Given the description of an element on the screen output the (x, y) to click on. 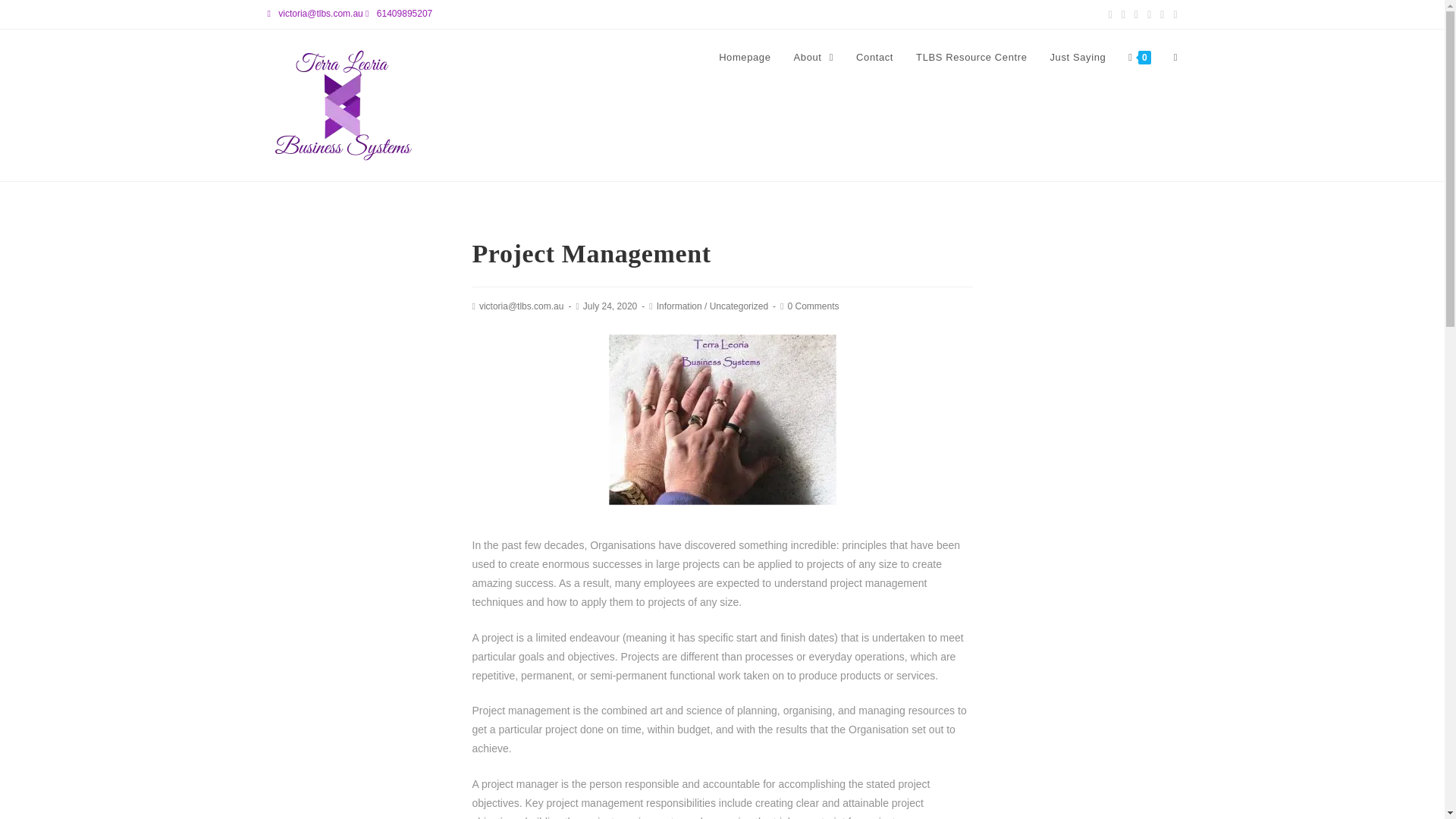
TLBS Resource Centre (971, 57)
Contact (874, 57)
Uncategorized (739, 306)
Information (678, 306)
Homepage (744, 57)
Just Saying (1078, 57)
About (814, 57)
0 Comments (812, 306)
